Given the description of an element on the screen output the (x, y) to click on. 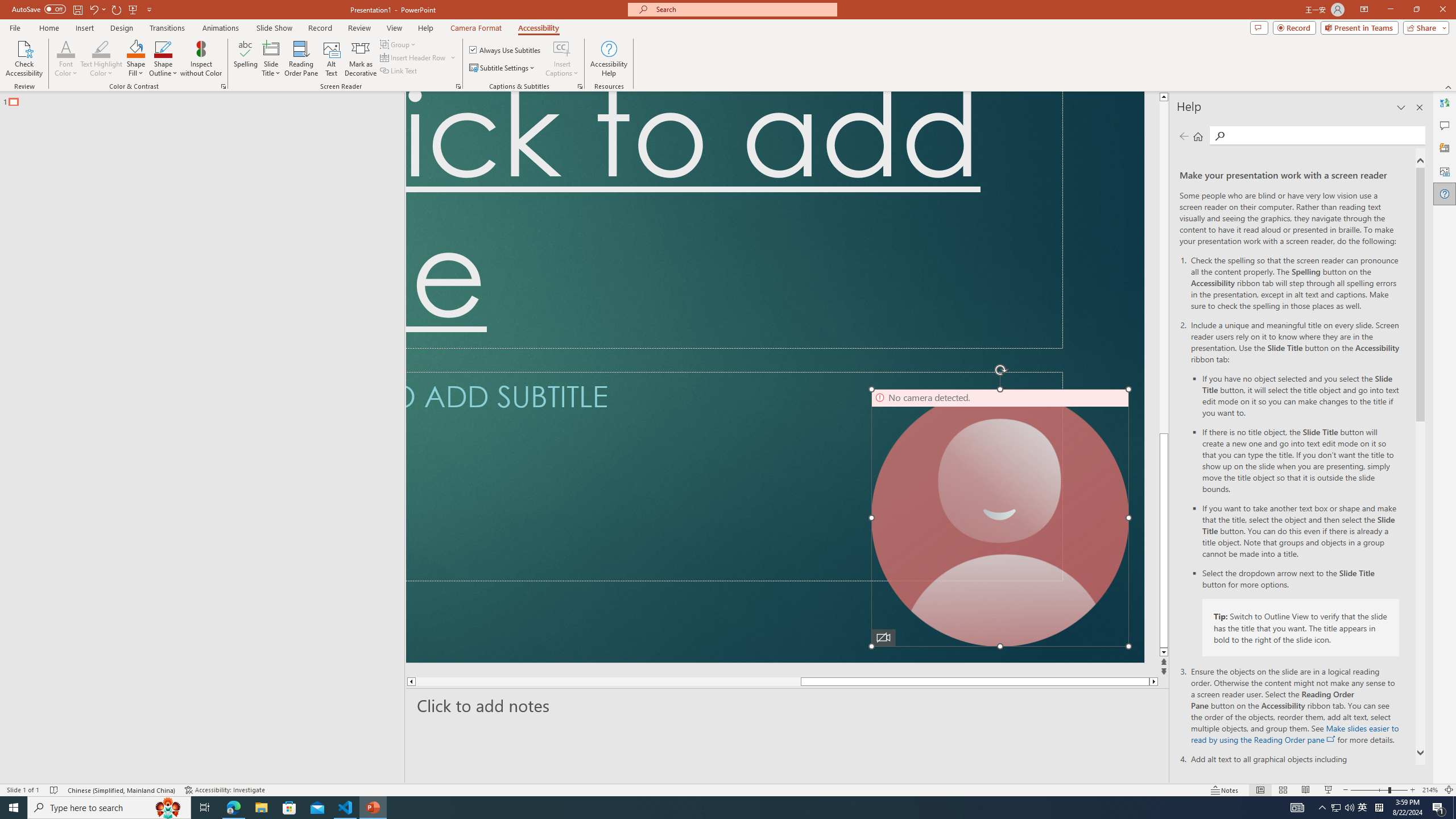
Search (1325, 135)
AutoSave (38, 9)
Slide Sorter (1282, 790)
Check Accessibility (23, 58)
Reading Order Pane (301, 58)
System (6, 6)
Comments (1444, 125)
Review (359, 28)
Title TextBox (734, 219)
Home (48, 28)
Mark as Decorative (360, 58)
Restore Down (1416, 9)
Save (77, 9)
